Given the description of an element on the screen output the (x, y) to click on. 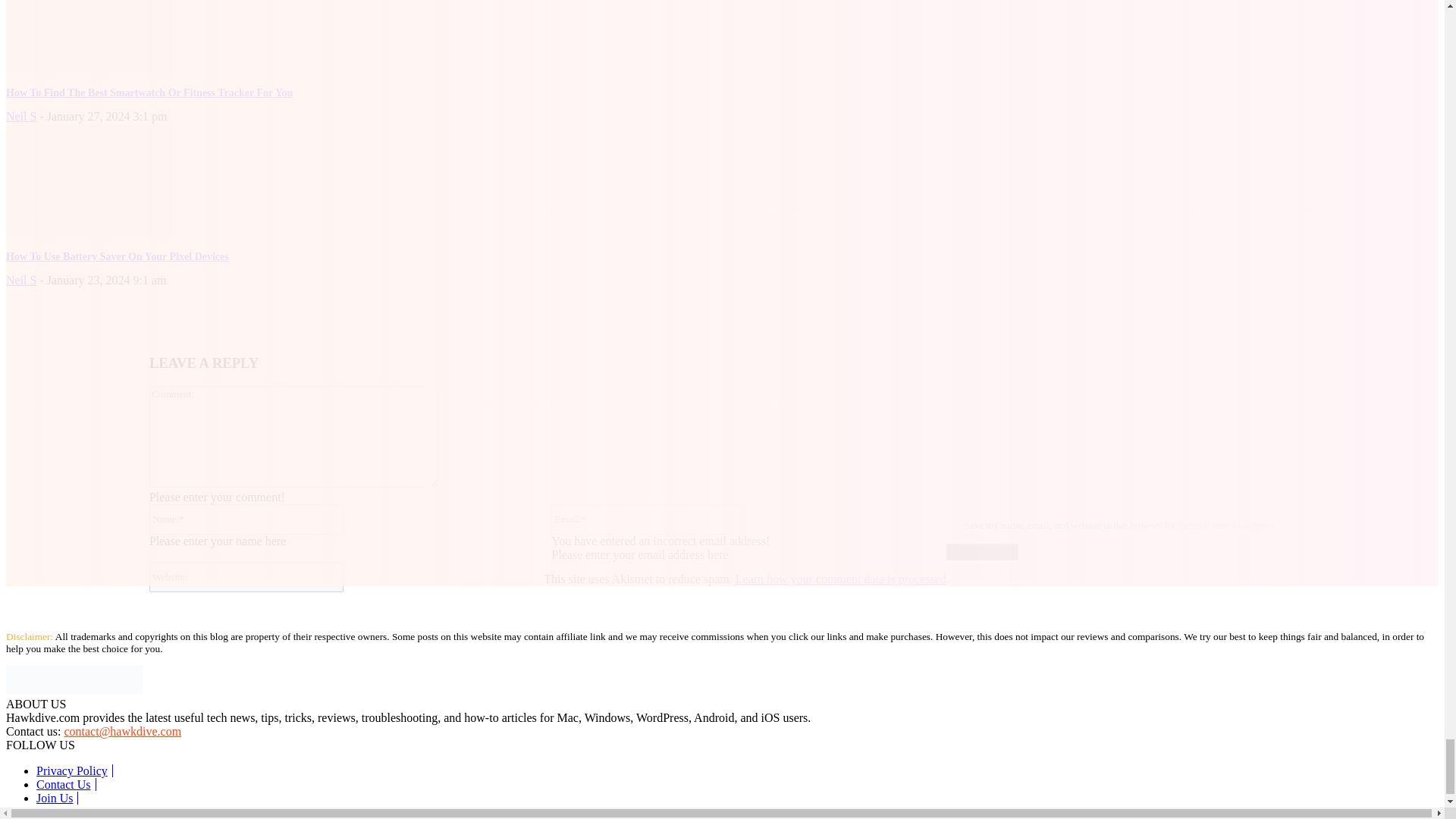
Post Comment (981, 551)
yes (954, 523)
